Given the description of an element on the screen output the (x, y) to click on. 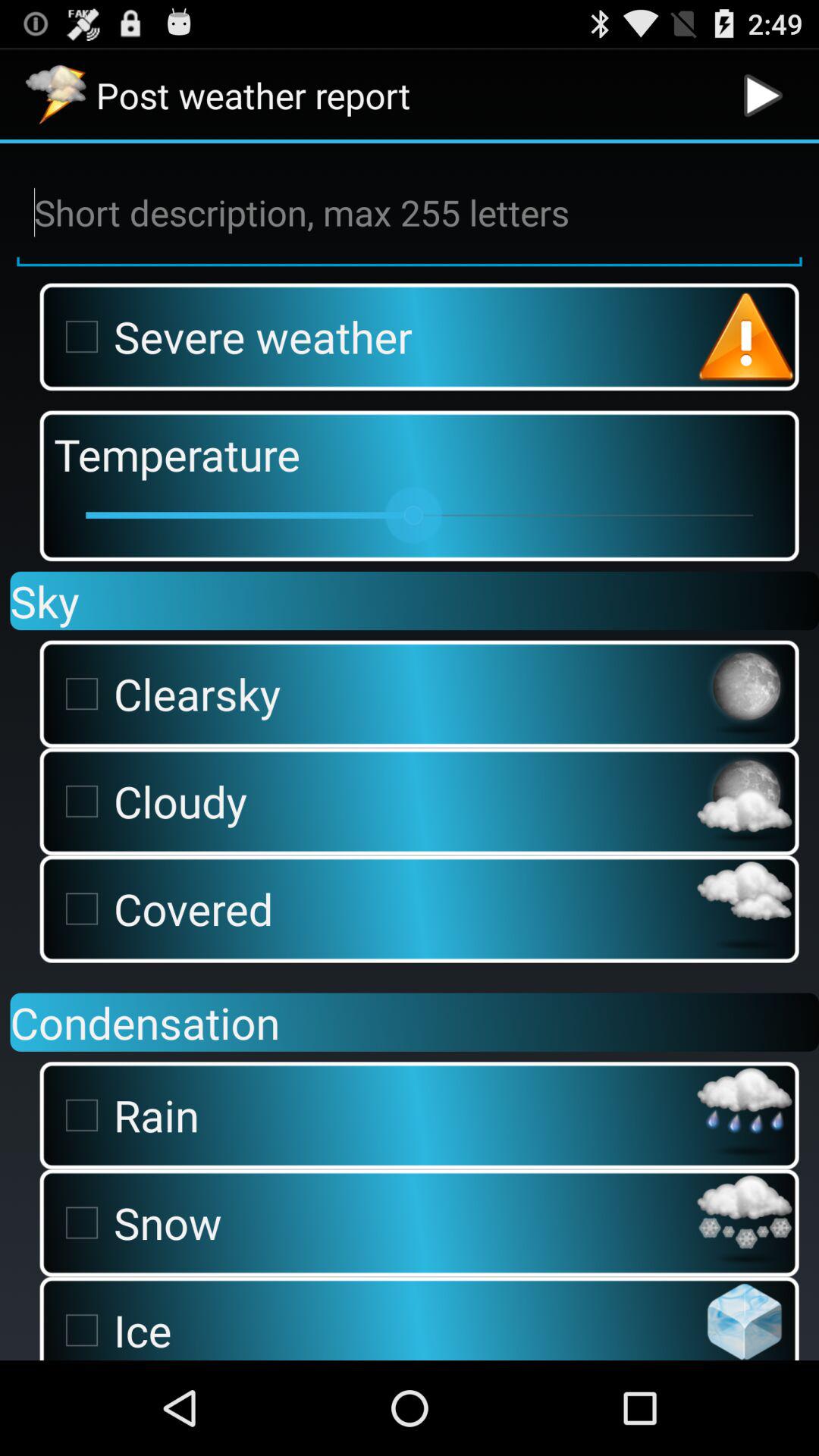
enter description (409, 213)
